Given the description of an element on the screen output the (x, y) to click on. 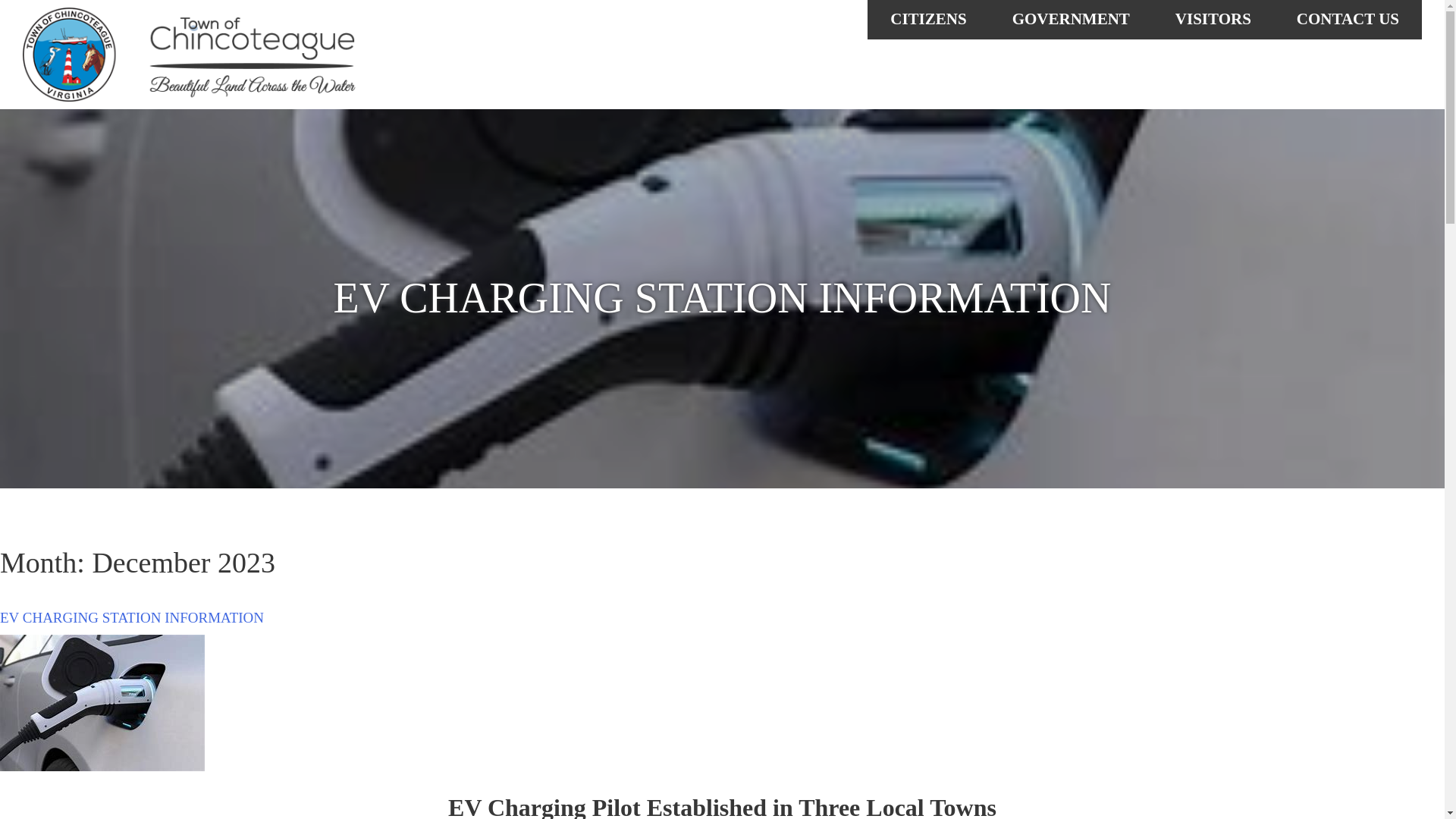
GOVERNMENT (1071, 19)
VISITORS (1213, 19)
CONTACT US (1348, 19)
EV CHARGING STATION INFORMATION (131, 617)
CITIZENS (927, 19)
